Given the description of an element on the screen output the (x, y) to click on. 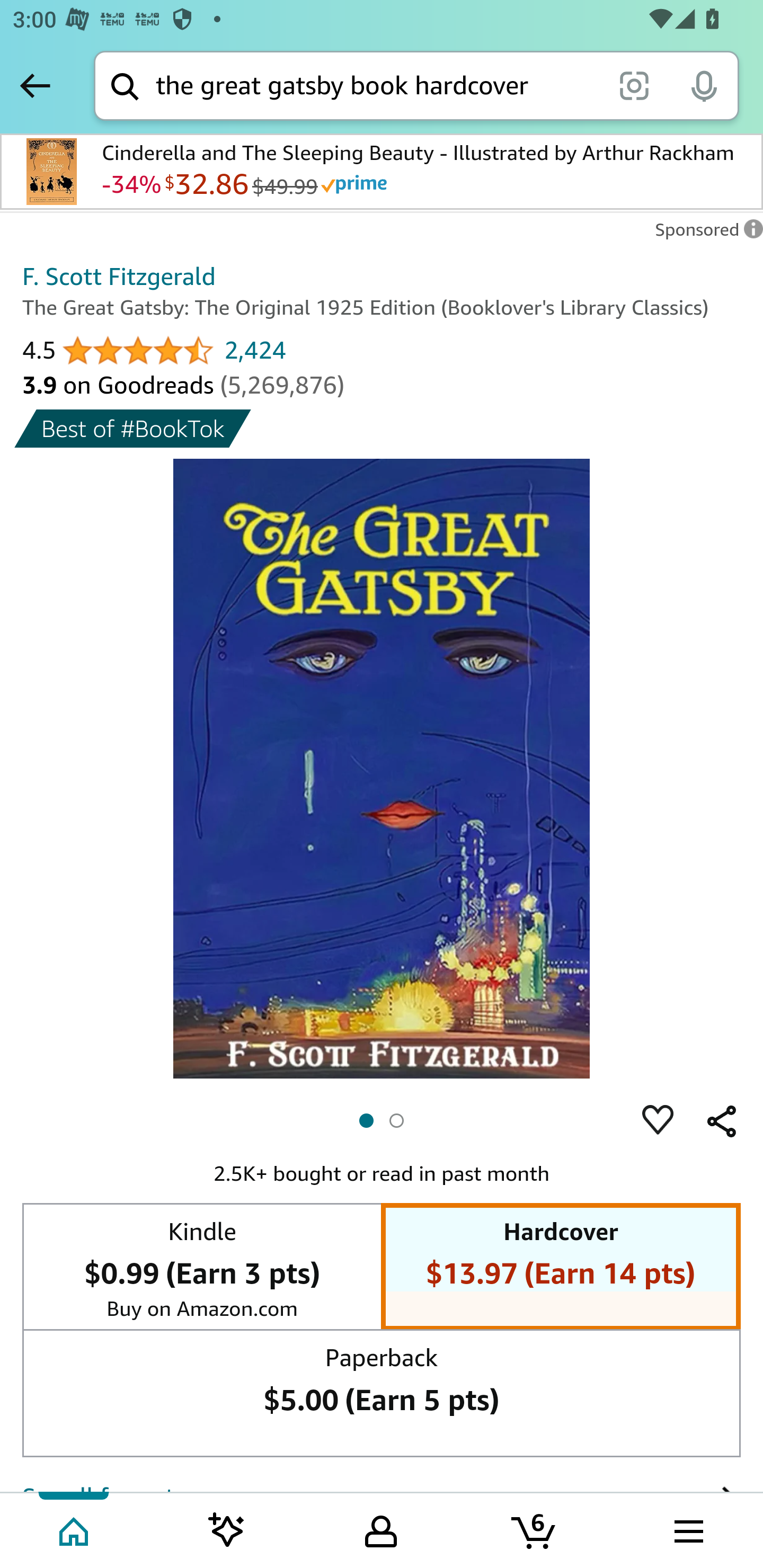
Back (35, 85)
scan it (633, 85)
Leave feedback on Sponsored ad Sponsored  (703, 234)
F. Scott Fitzgerald (118, 275)
Best of #BookTok (133, 427)
Heart to save an item to your default list (657, 1120)
Home Tab 1 of 5 (75, 1529)
Inspire feed Tab 2 of 5 (227, 1529)
Your Amazon.com Tab 3 of 5 (380, 1529)
Cart 6 items Tab 4 of 5 6 (534, 1529)
Browse menu Tab 5 of 5 (687, 1529)
